Given the description of an element on the screen output the (x, y) to click on. 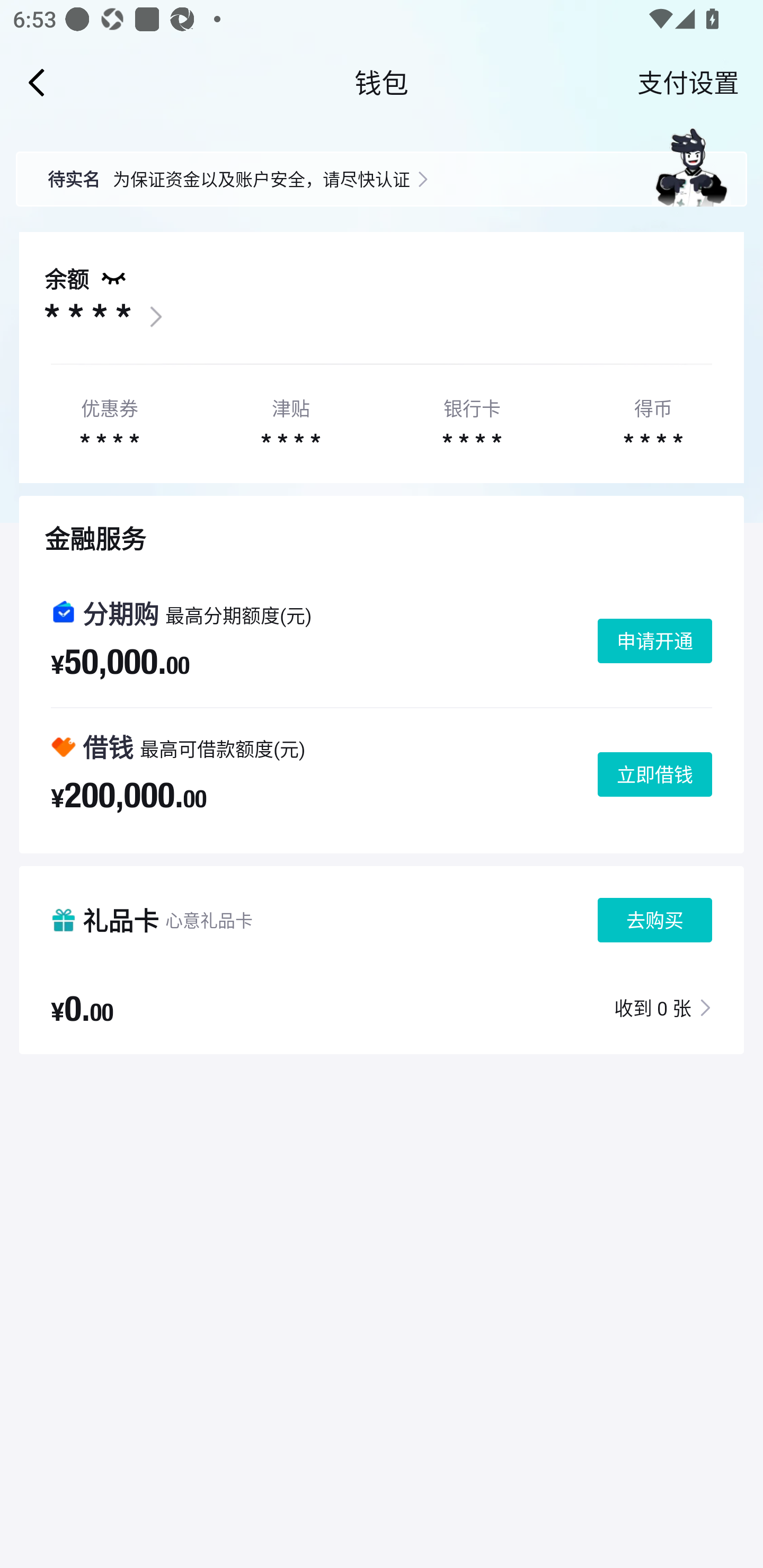
Navigate up (36, 82)
支付设置 (688, 82)
待实名 为保证资金以及账户安全，请尽快认证 (381, 166)
* * * * (87, 317)
优惠券 * * * * (109, 419)
津贴 * * * * (290, 419)
银行卡 * * * * (472, 419)
得币 * * * * (653, 419)
分期购 最高分期额度(元) ¥ 50,000.00 申请开通 (381, 641)
借钱 最高可借款额度(元) ¥ 200,000.00 立即借钱 (381, 774)
¥ 0.00 收到 0 张 (381, 1007)
